Given the description of an element on the screen output the (x, y) to click on. 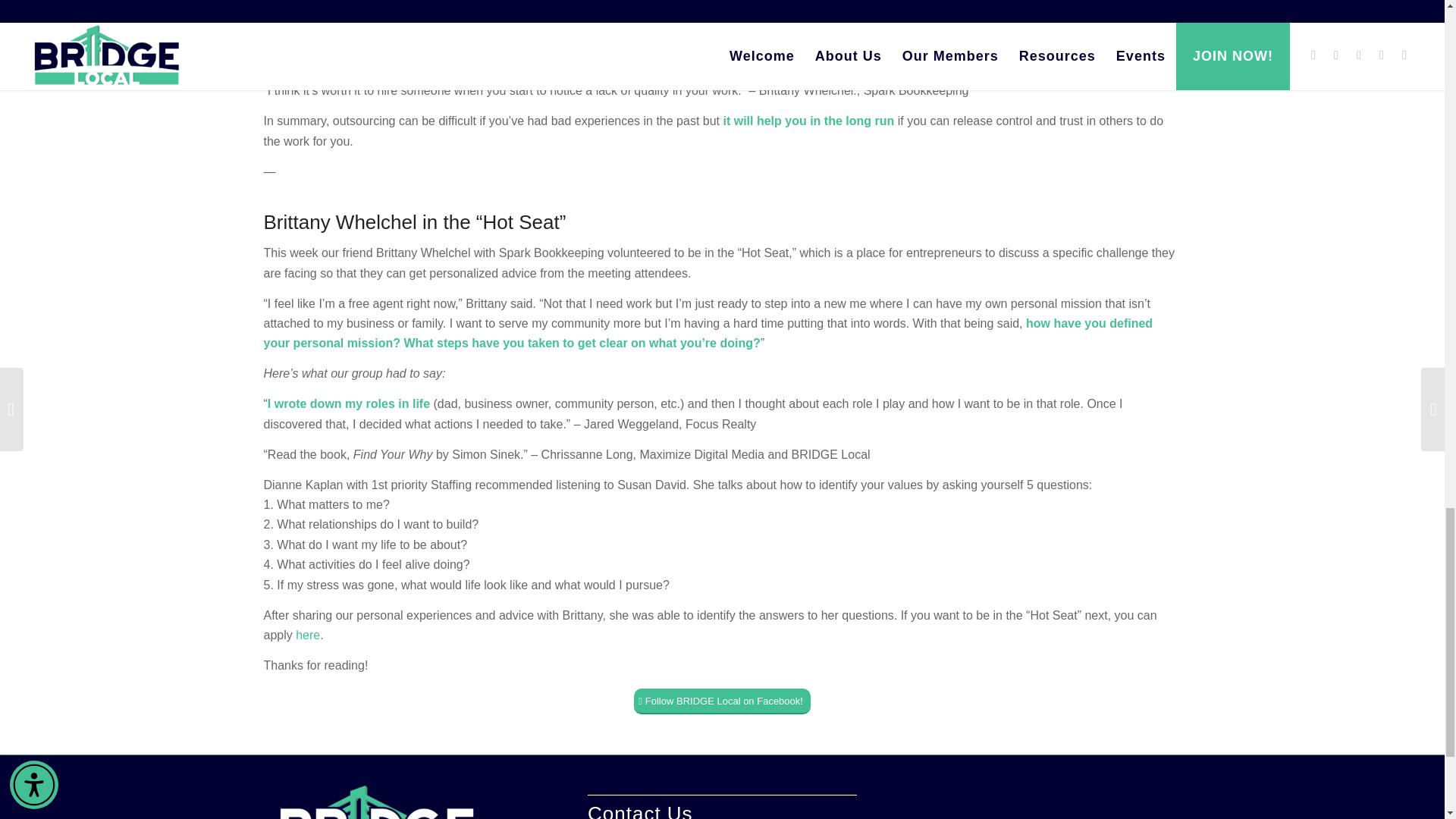
here (307, 634)
Follow BRIDGE Local on Facebook! (721, 701)
